Given the description of an element on the screen output the (x, y) to click on. 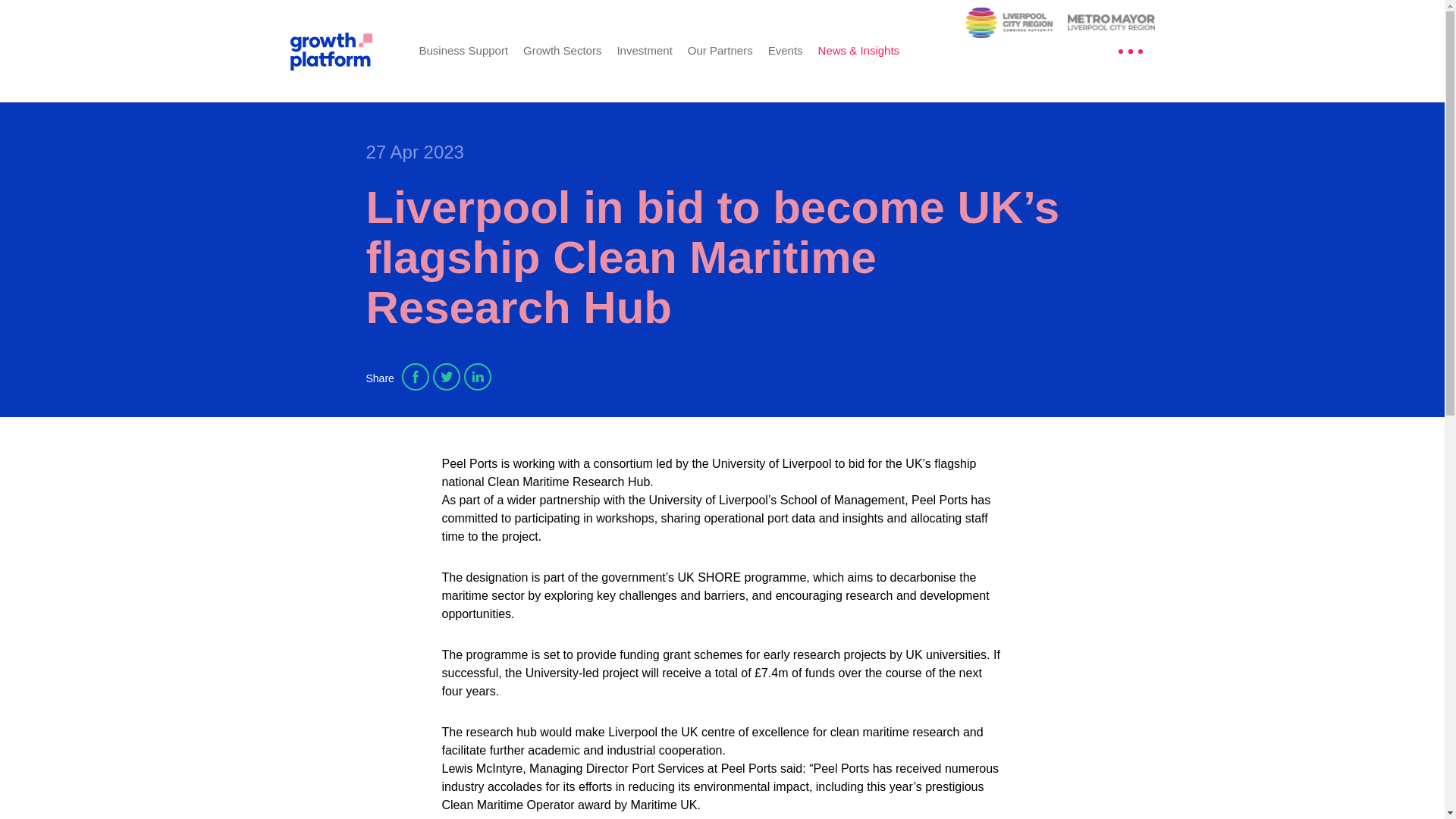
Go to Growth Platform homepage (342, 50)
Investment (643, 50)
Business Support (463, 50)
Our Partners (719, 50)
Growth Sectors (561, 50)
